Given the description of an element on the screen output the (x, y) to click on. 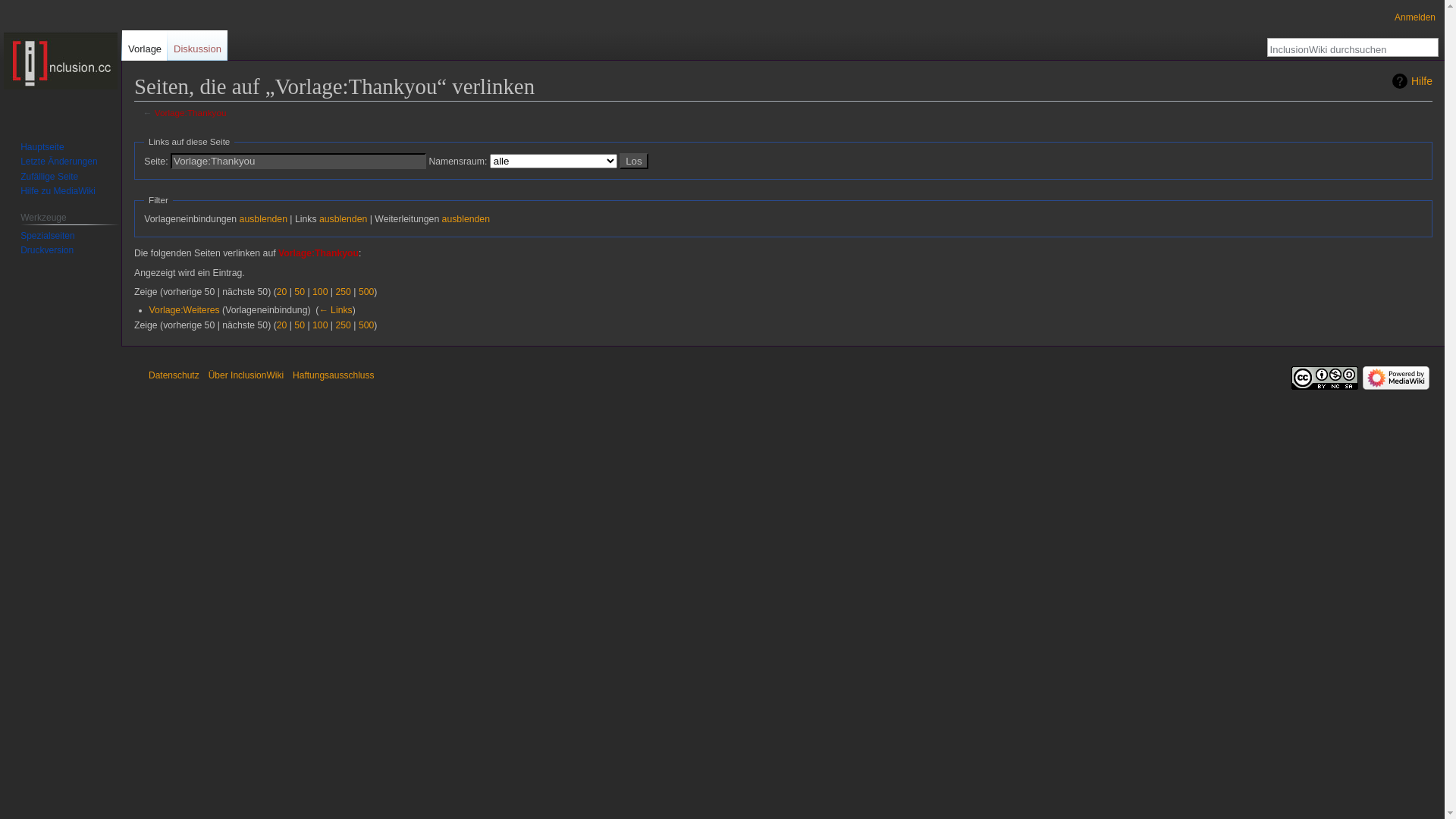
100 Element type: text (319, 325)
InclusionWiki durchsuchen [alt-shift-f] Element type: hover (1344, 48)
Suchen Element type: text (1426, 46)
Spezialseiten Element type: text (47, 235)
Hauptseite Element type: text (41, 146)
Anmelden Element type: text (1414, 17)
Los Element type: text (633, 161)
Diskussion Element type: text (197, 45)
500 Element type: text (365, 291)
50 Element type: text (299, 325)
250 Element type: text (342, 325)
Druckversion Element type: text (46, 249)
Hilfe Element type: text (1412, 80)
ausblenden Element type: text (263, 218)
Zur Navigation springen Element type: text (133, 129)
50 Element type: text (299, 291)
20 Element type: text (281, 291)
Haftungsausschluss Element type: text (332, 375)
500 Element type: text (365, 325)
Vorlage Element type: text (144, 45)
Vorlage:Weiteres Element type: text (184, 309)
ausblenden Element type: text (343, 218)
Suche nach Seiten, die diesen Text enthalten Element type: hover (1426, 46)
20 Element type: text (281, 325)
Hauptseite Element type: hover (60, 60)
Vorlage:Thankyou Element type: text (190, 112)
Vorlage:Thankyou Element type: text (318, 252)
100 Element type: text (319, 291)
Datenschutz Element type: text (173, 375)
250 Element type: text (342, 291)
Hilfe zu MediaWiki Element type: text (57, 190)
ausblenden Element type: text (465, 218)
